Given the description of an element on the screen output the (x, y) to click on. 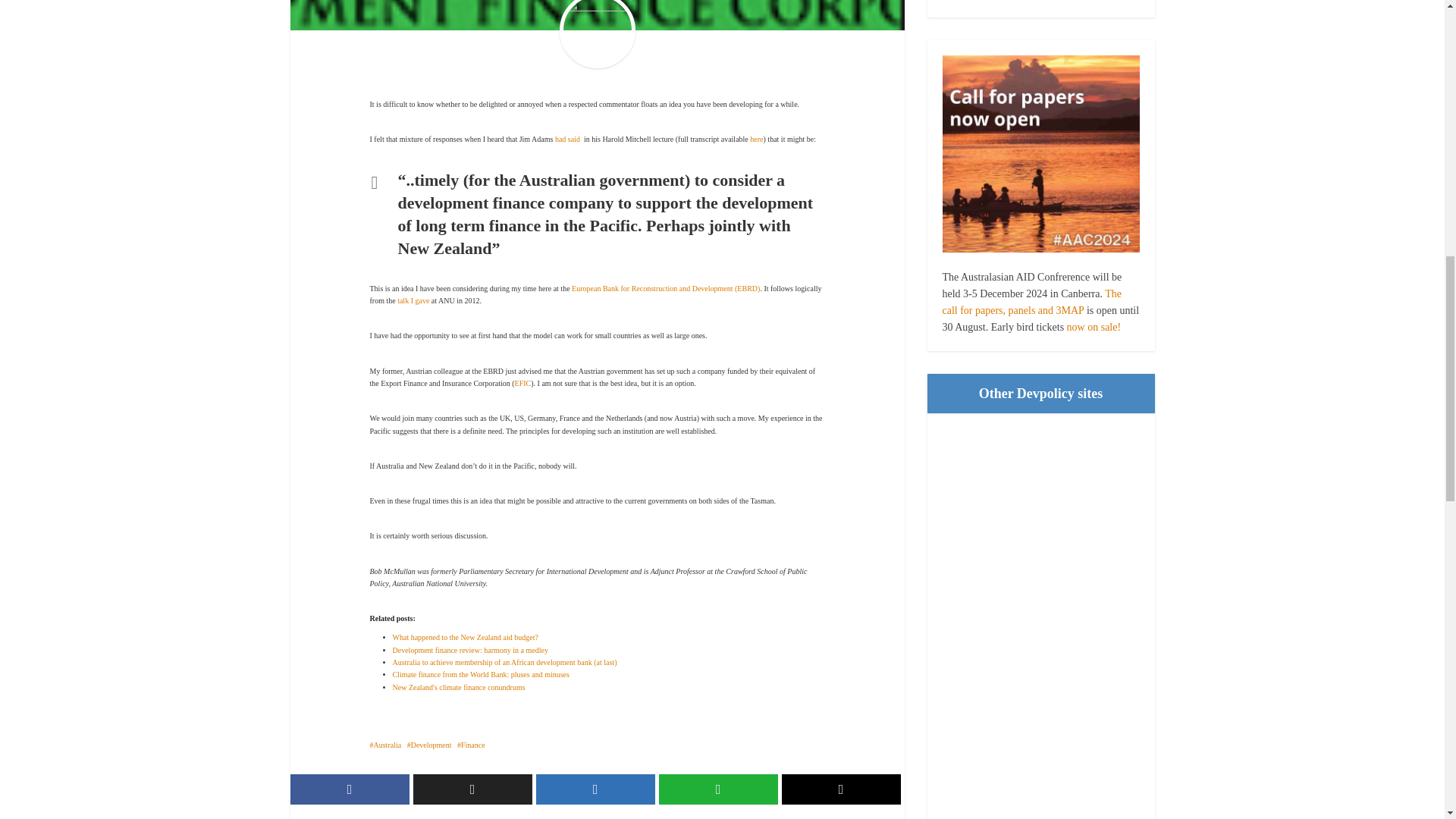
Climate finance from the World Bank: pluses and minuses (481, 674)
New Zealand's climate finance conundrums (459, 686)
talk I gave (413, 300)
Development finance review: harmony in a medley (470, 650)
What happened to the New Zealand aid budget? (465, 637)
had said (566, 139)
Australia (385, 745)
EFIC (523, 383)
here (755, 139)
